Given the description of an element on the screen output the (x, y) to click on. 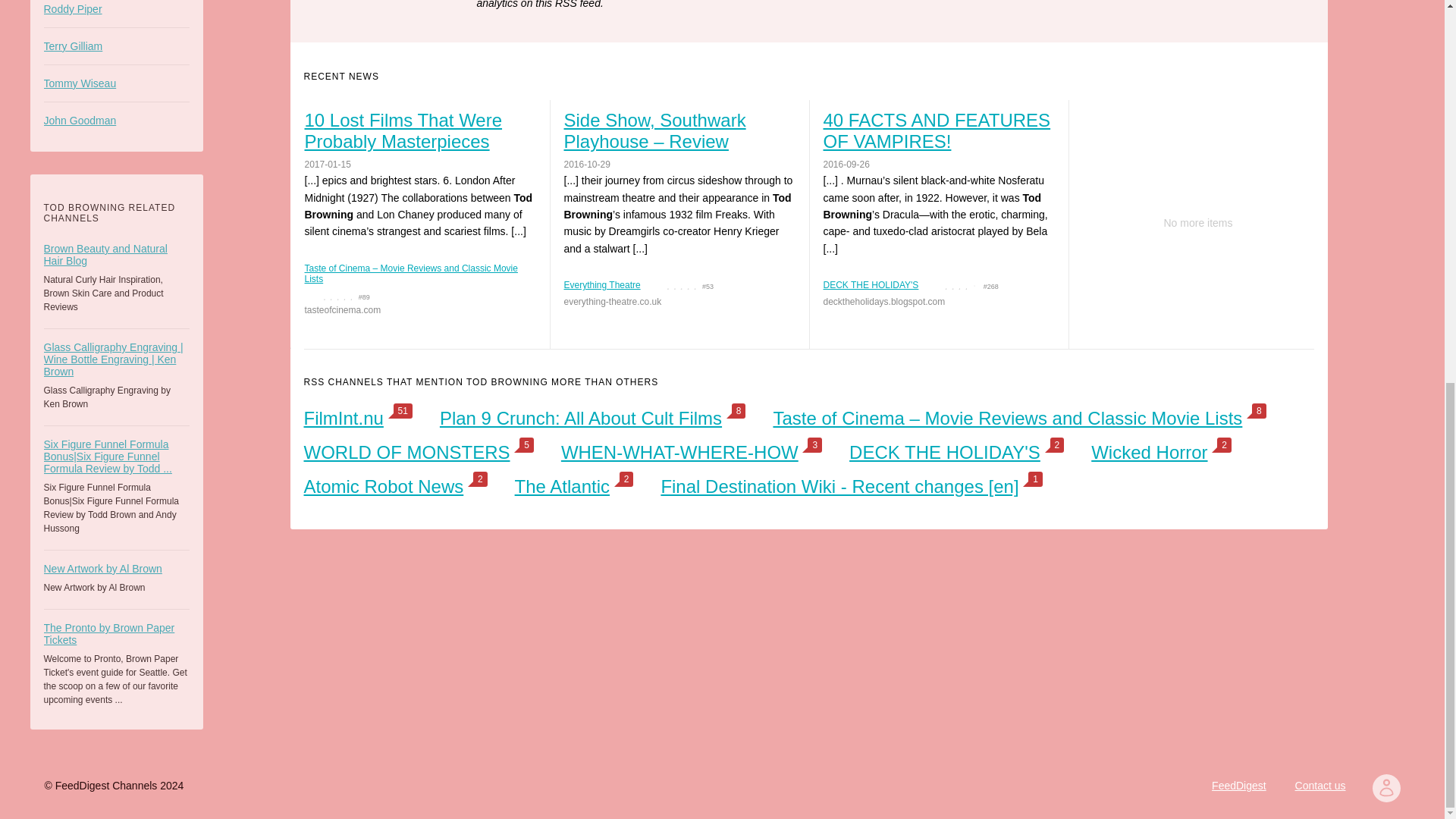
WHEN-WHAT-WHERE-HOW (678, 452)
Plan 9 Crunch: All About Cult Films (580, 417)
WORLD OF MONSTERS (405, 452)
10 Lost Films That Were Probably Masterpieces (419, 130)
40 FACTS AND FEATURES OF VAMPIRES! (938, 130)
DECK THE HOLIDAY'S (871, 285)
FilmInt.nu (342, 417)
Everything Theatre (602, 285)
DECK THE HOLIDAY'S (944, 452)
